Given the description of an element on the screen output the (x, y) to click on. 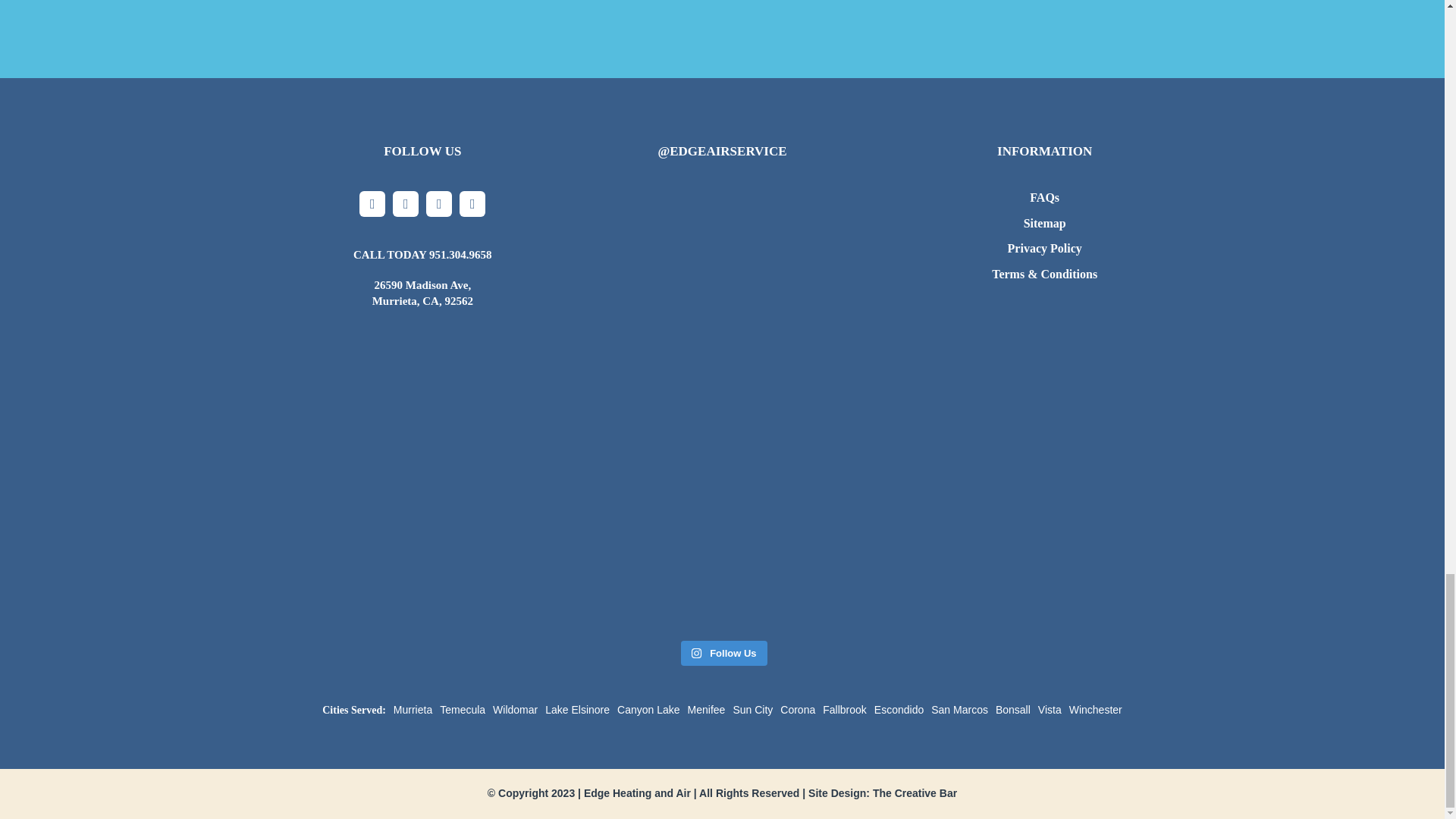
Instagram (438, 203)
X (406, 203)
Facebook (372, 203)
LinkedIn (472, 203)
